Given the description of an element on the screen output the (x, y) to click on. 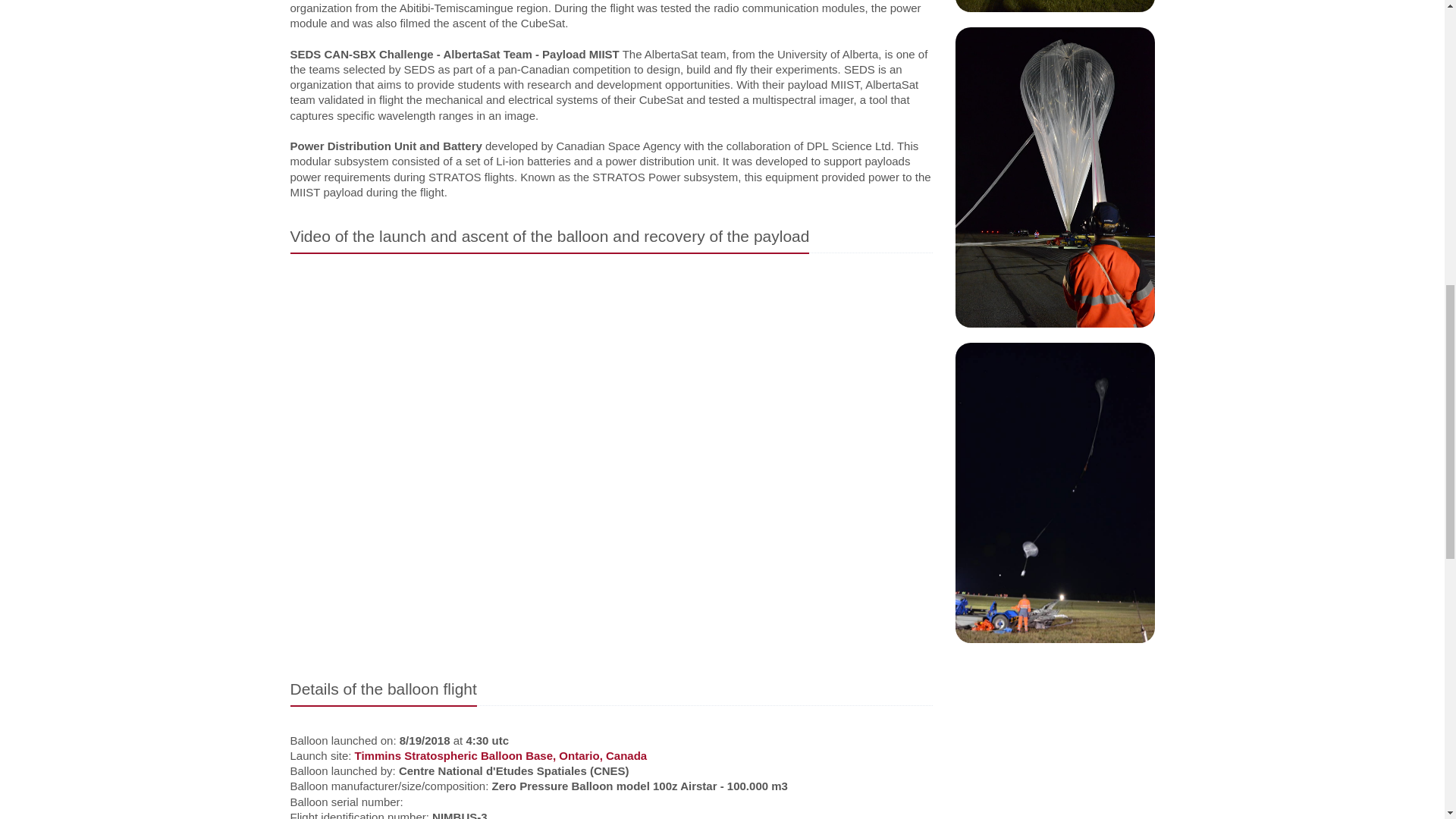
Timmins Stratospheric Balloon Base, Ontario, Canada (501, 755)
